Given the description of an element on the screen output the (x, y) to click on. 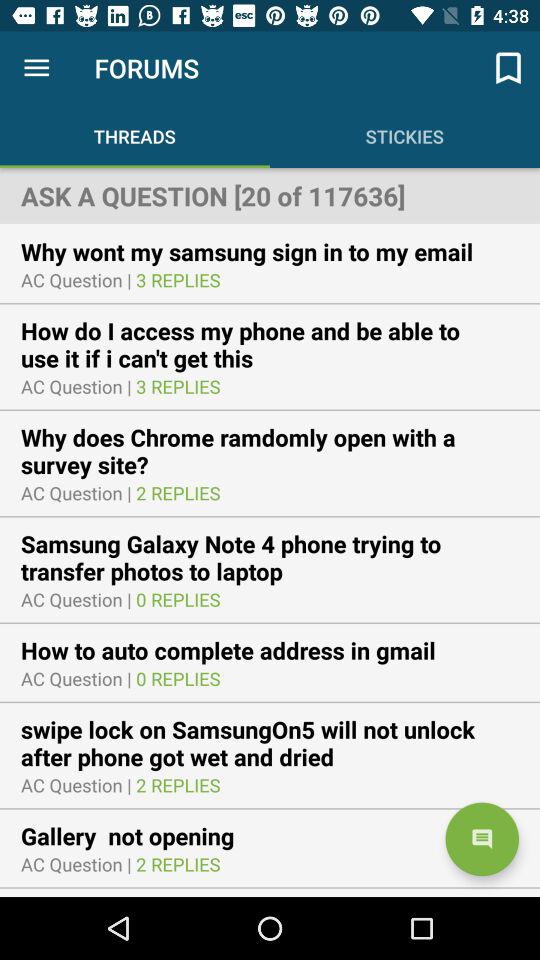
swipe until why wont my (260, 251)
